Given the description of an element on the screen output the (x, y) to click on. 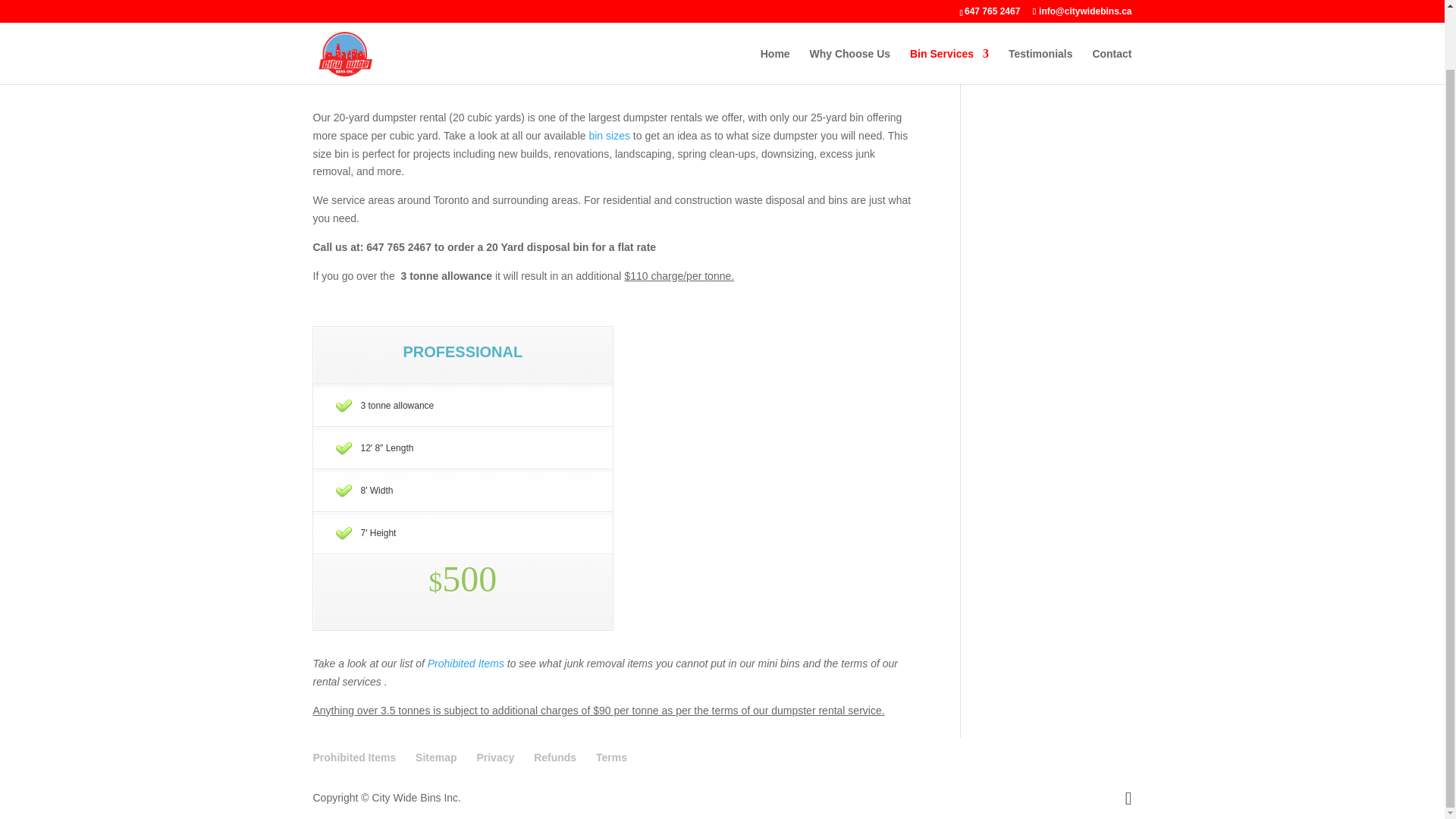
Prohibited Items (465, 663)
Contact (1111, 9)
Bin Services (949, 9)
Testimonials (1041, 9)
Refunds (555, 757)
Sitemap (435, 757)
Prohibited Items (465, 663)
Privacy (494, 757)
Privacy Policy (494, 757)
bin sizes (608, 135)
Prohibited Items (354, 757)
Why Choose Us (850, 9)
Terms (611, 757)
Home (775, 9)
